Given the description of an element on the screen output the (x, y) to click on. 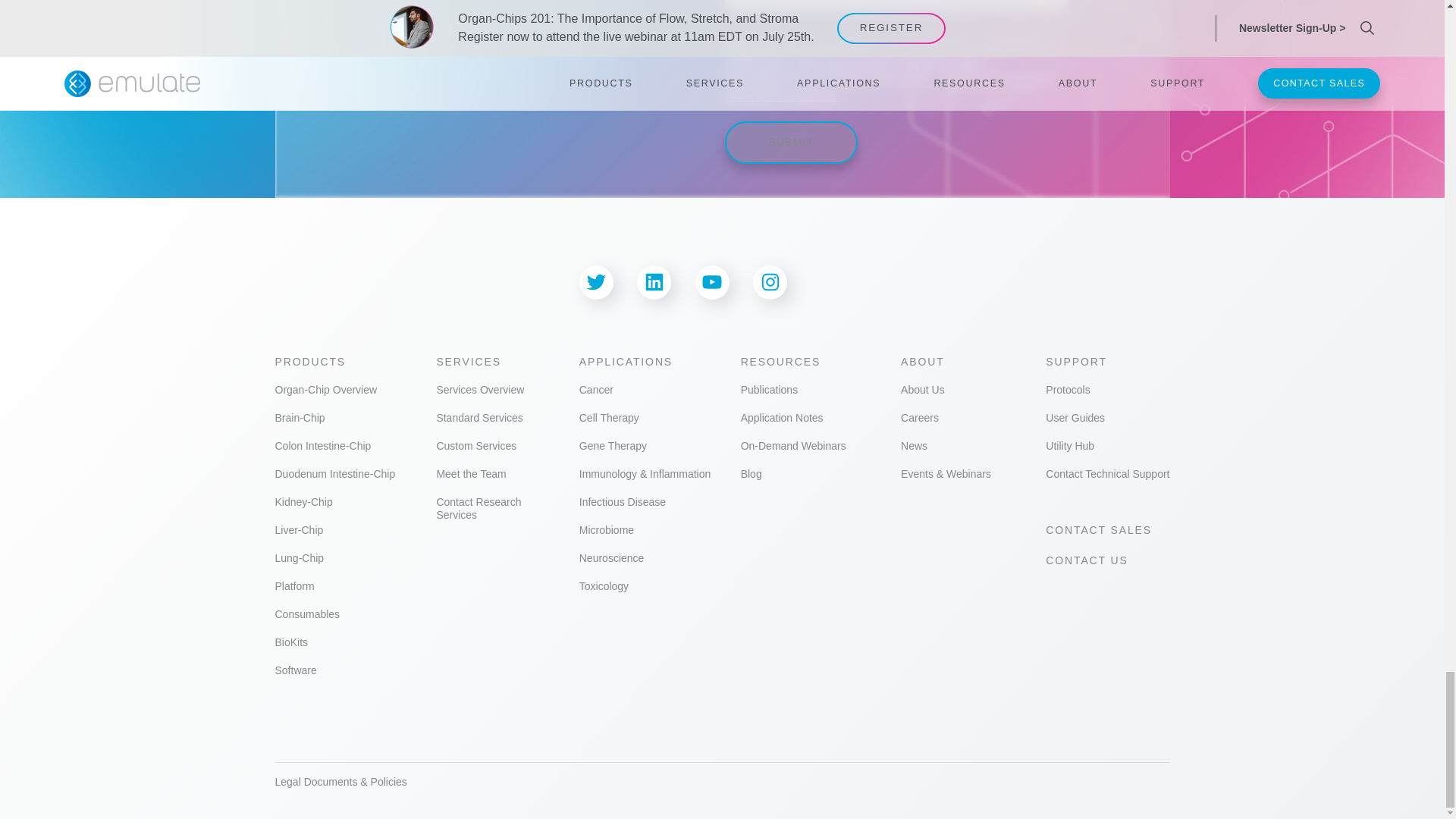
true (733, 44)
Submit (791, 142)
